Given the description of an element on the screen output the (x, y) to click on. 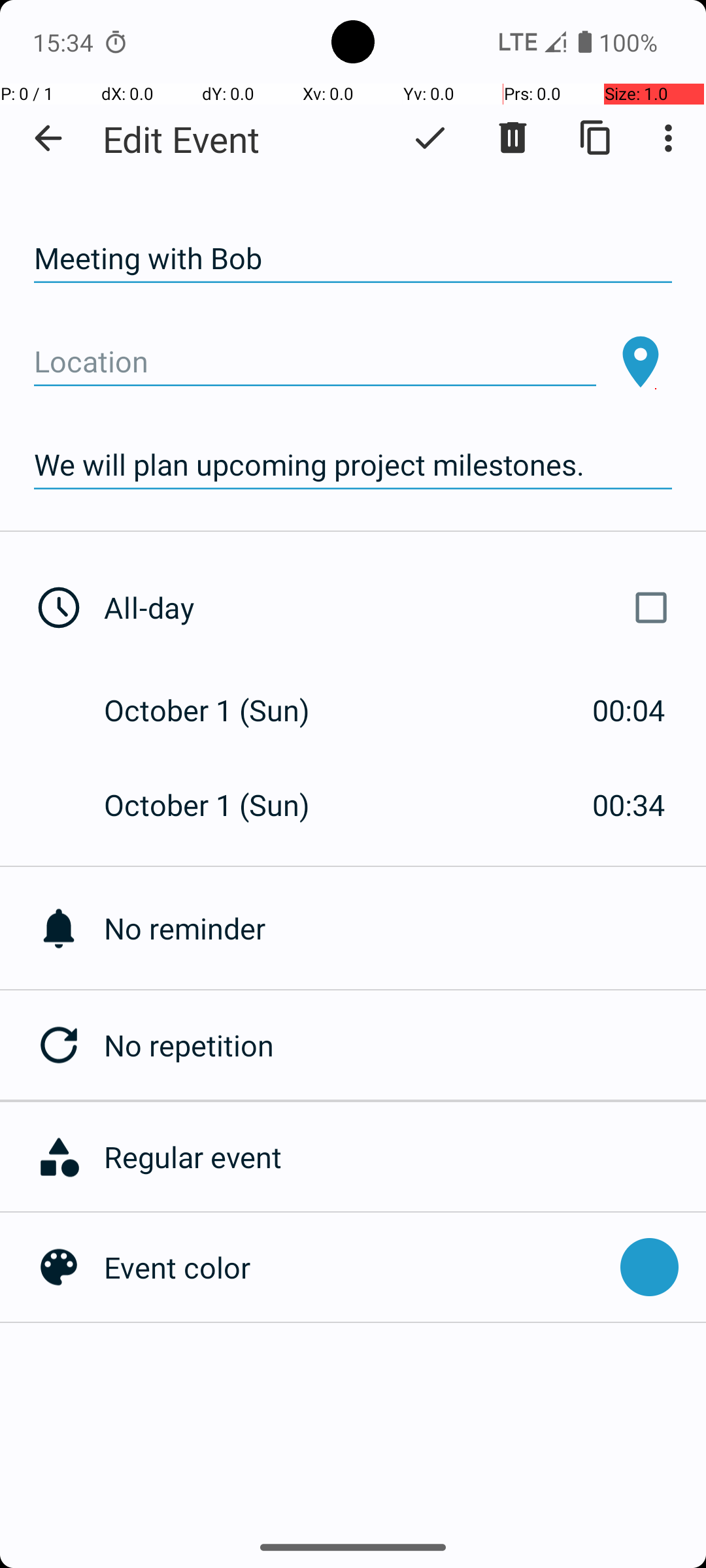
We will plan upcoming project milestones. Element type: android.widget.EditText (352, 465)
October 1 (Sun) Element type: android.widget.TextView (220, 709)
00:04 Element type: android.widget.TextView (628, 709)
00:34 Element type: android.widget.TextView (628, 804)
